Given the description of an element on the screen output the (x, y) to click on. 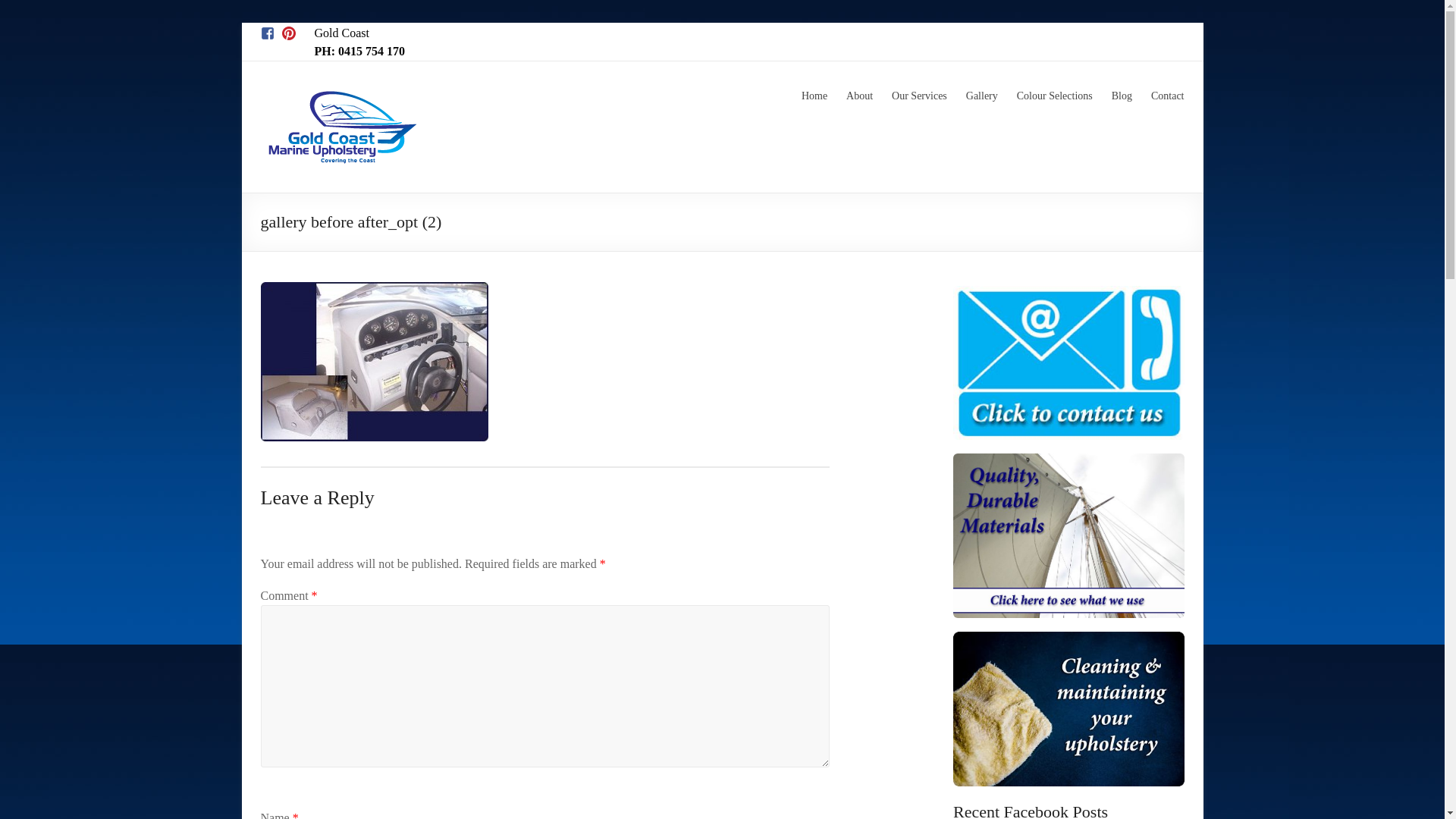
widget contact us Element type: hover (1068, 362)
About Element type: text (859, 93)
widget cleaning Element type: hover (1068, 708)
Gold Coast Marine Upholstery Element type: hover (342, 79)
Contact Element type: text (1167, 93)
Our Services Element type: text (919, 93)
Blog Element type: text (1121, 93)
Gallery Element type: text (981, 93)
Home Element type: text (814, 93)
widget what we use Element type: hover (1068, 535)
Colour Selections Element type: text (1054, 93)
